Given the description of an element on the screen output the (x, y) to click on. 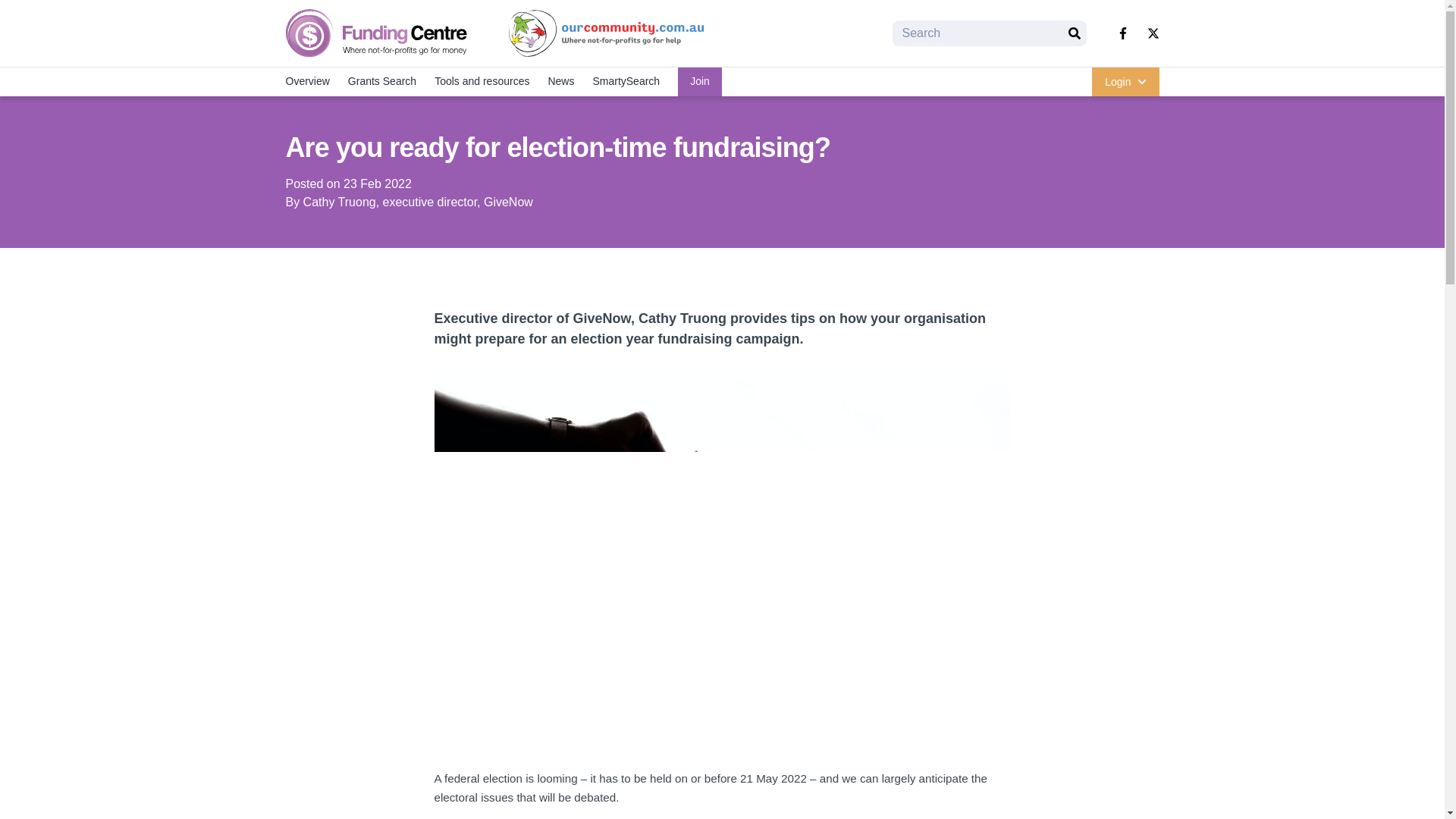
Tools and resources (481, 81)
Join (700, 81)
SmartySearch (625, 81)
News (560, 81)
Grants Search (382, 81)
Search (1073, 32)
Login (1125, 81)
Follow us on Twitter (1152, 33)
Like us on Facebook (1122, 33)
Overview (306, 81)
